Given the description of an element on the screen output the (x, y) to click on. 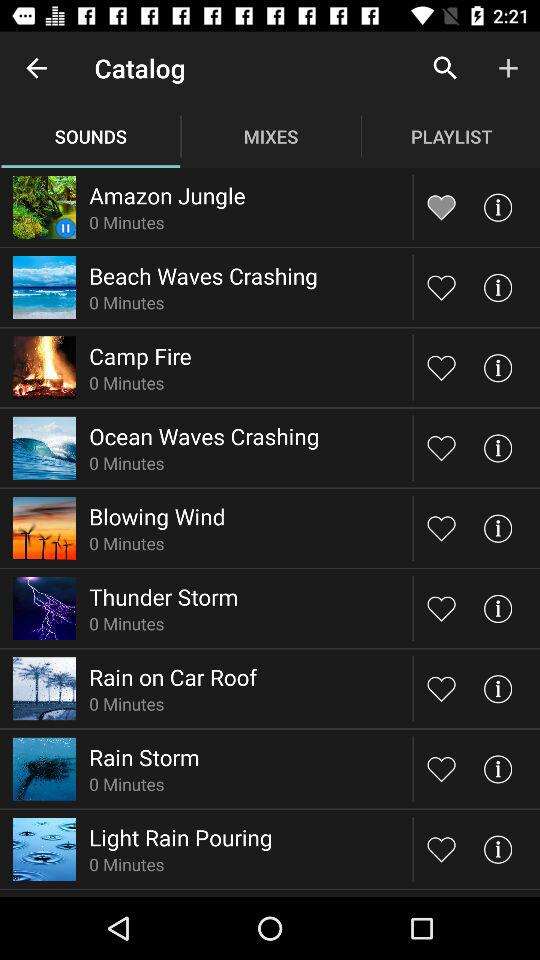
like (441, 287)
